Given the description of an element on the screen output the (x, y) to click on. 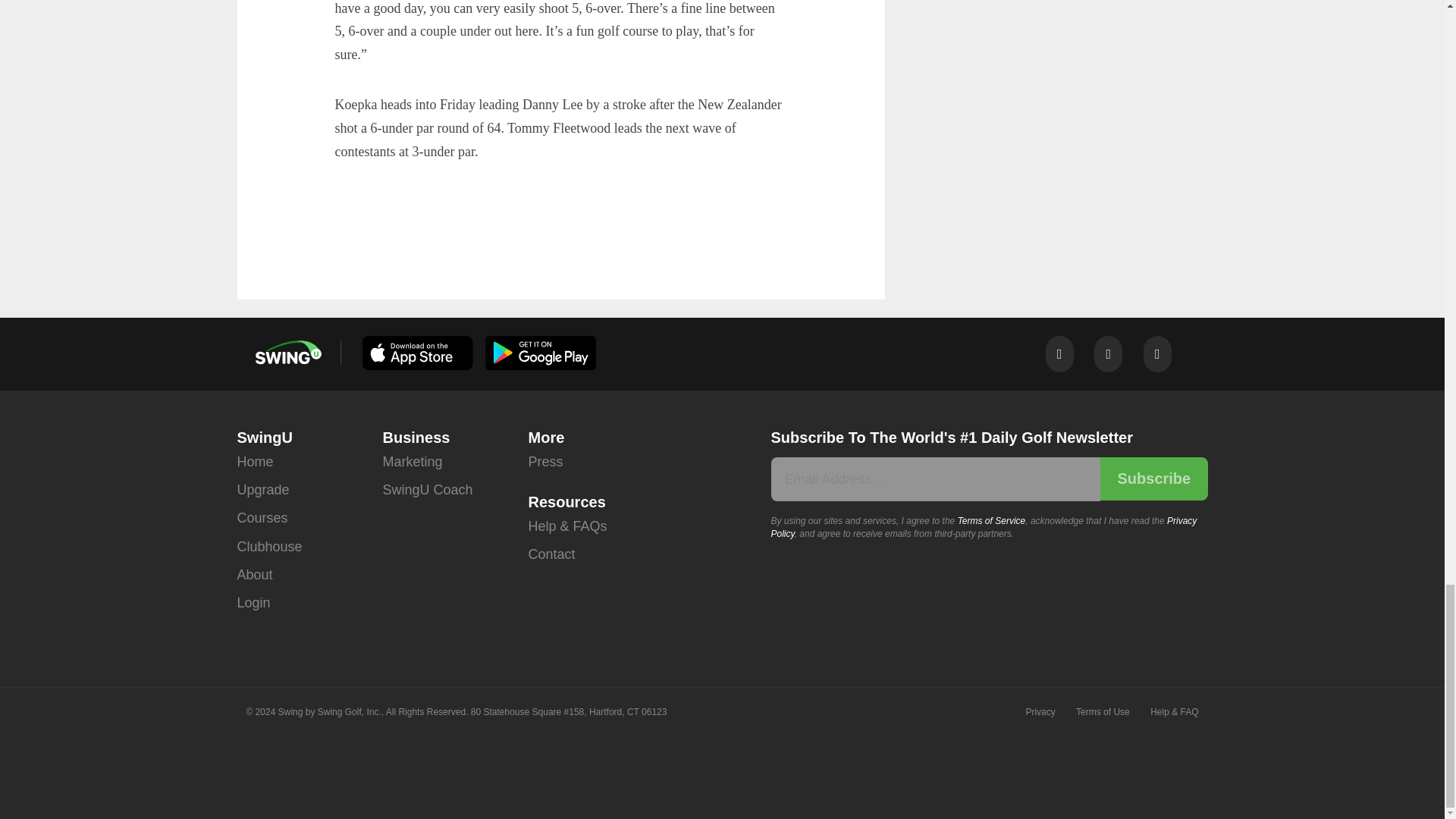
Login (252, 602)
Clubhouse (268, 547)
Upgrade (261, 489)
Press (544, 461)
About (253, 574)
Home (254, 461)
Privacy (1039, 712)
Marketing (411, 461)
Subscribe (1153, 478)
Terms of Service (992, 520)
